Given the description of an element on the screen output the (x, y) to click on. 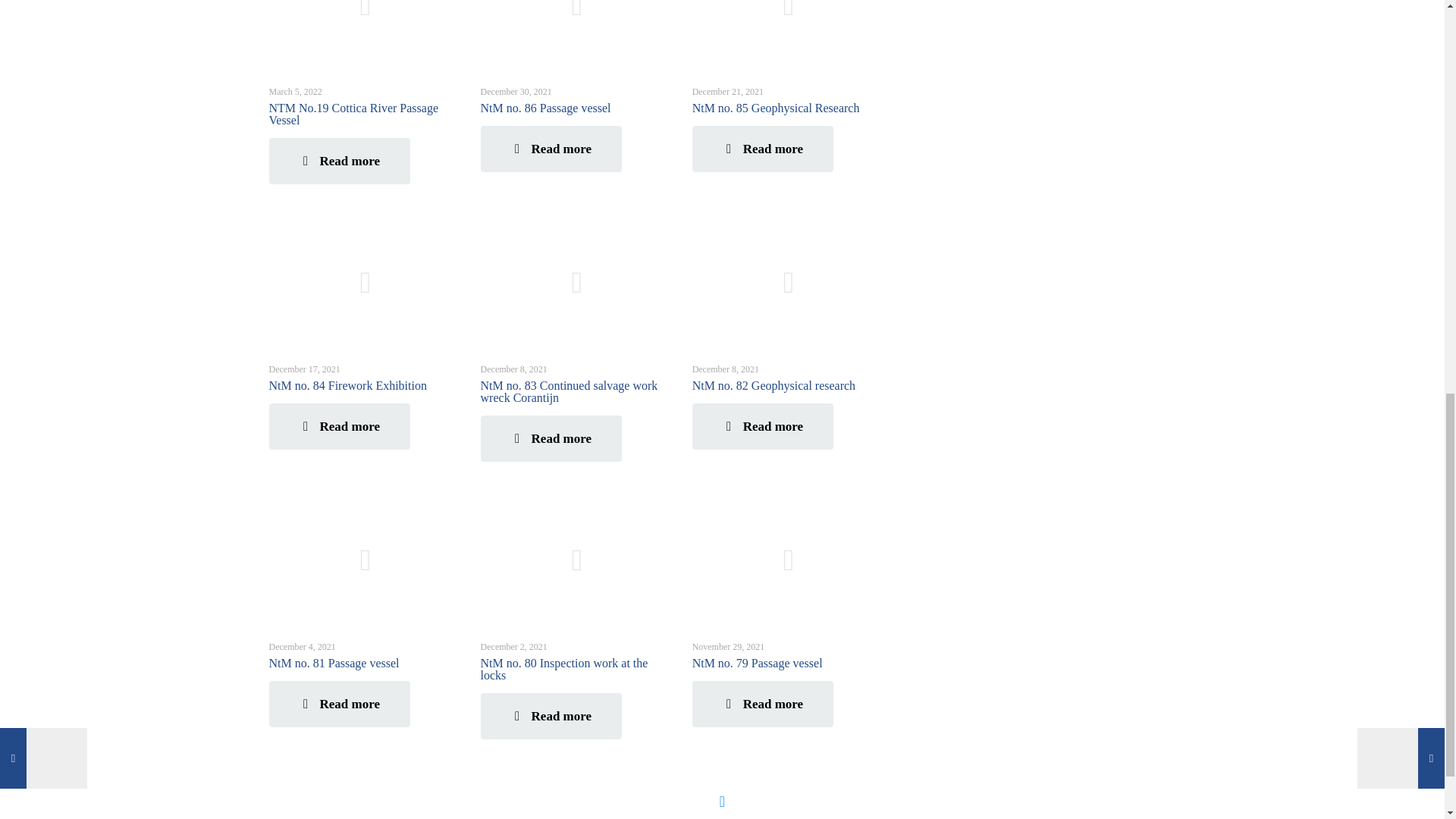
Read more (550, 148)
NtM no. 85 Geophysical Research (776, 107)
Read more (762, 148)
NTM No.19 Cottica River Passage Vessel (352, 113)
NtM no. 86 Passage vessel (545, 107)
Read more (338, 161)
